Given the description of an element on the screen output the (x, y) to click on. 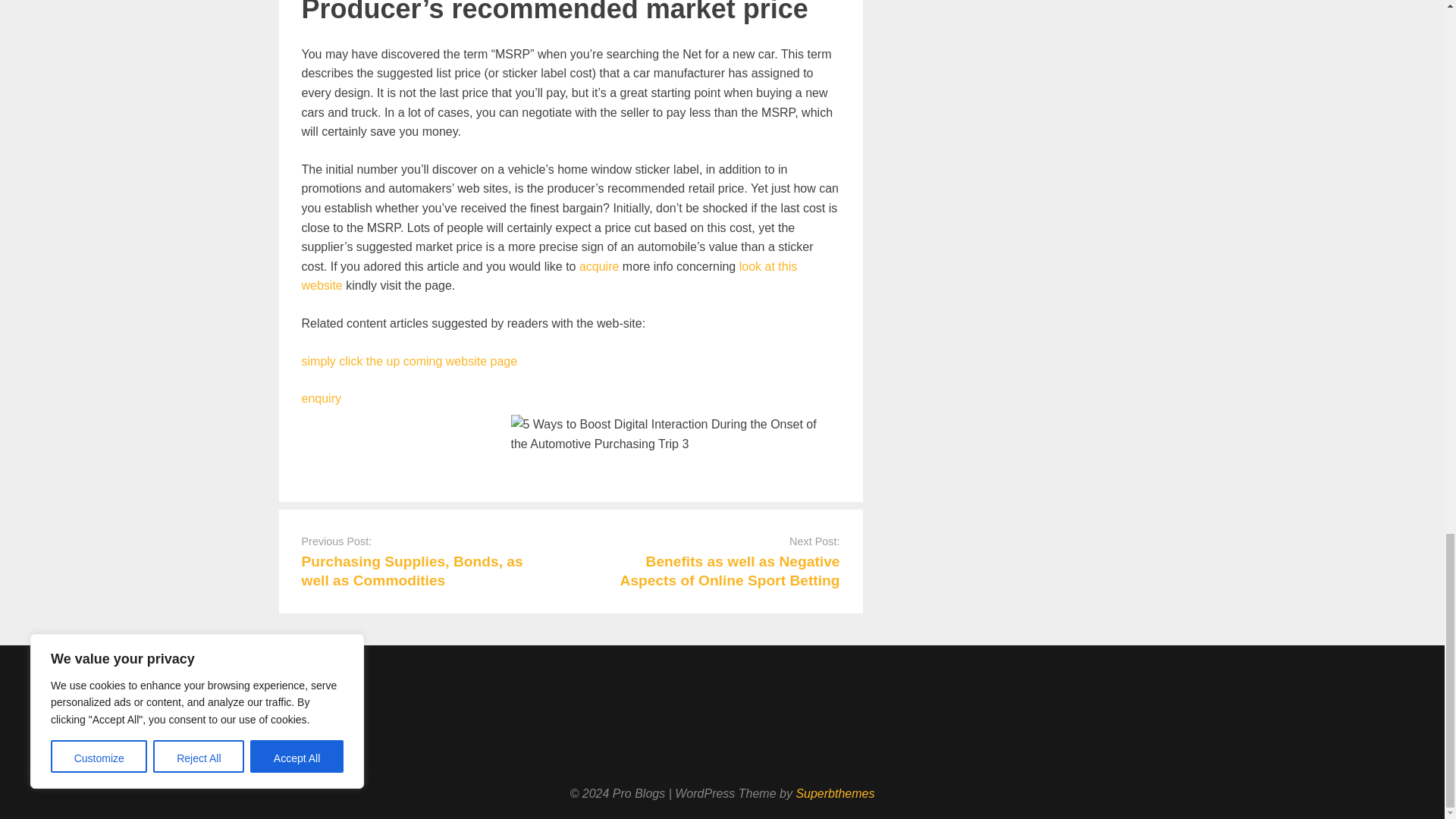
Purchasing Supplies, Bonds, as well as Commodities (411, 570)
Benefits as well as Negative Aspects of Online Sport Betting (730, 570)
look at this website (549, 276)
enquiry (320, 398)
simply click the up coming website page (409, 360)
acquire (598, 266)
